Given the description of an element on the screen output the (x, y) to click on. 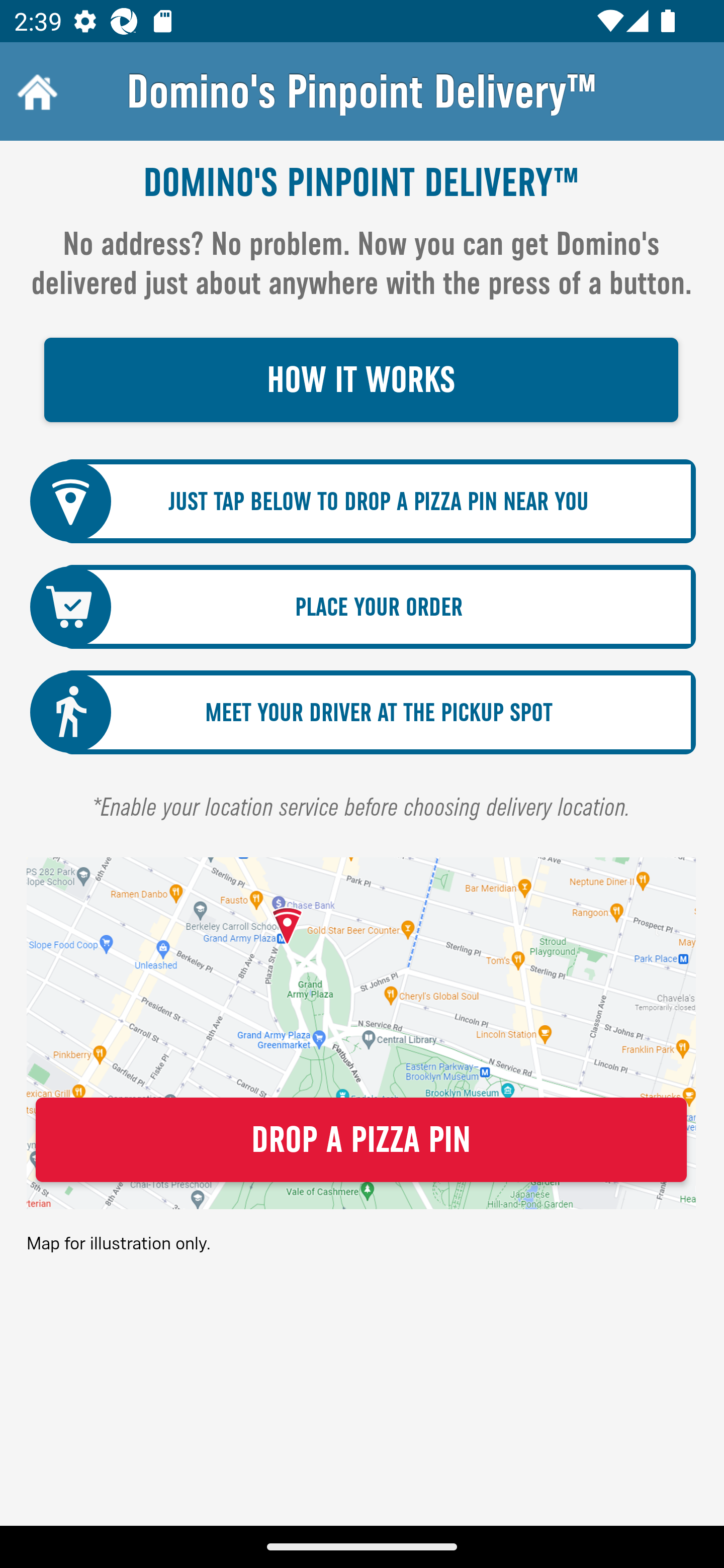
Home (35, 91)
DROP A PIZZA PIN (361, 1139)
